Given the description of an element on the screen output the (x, y) to click on. 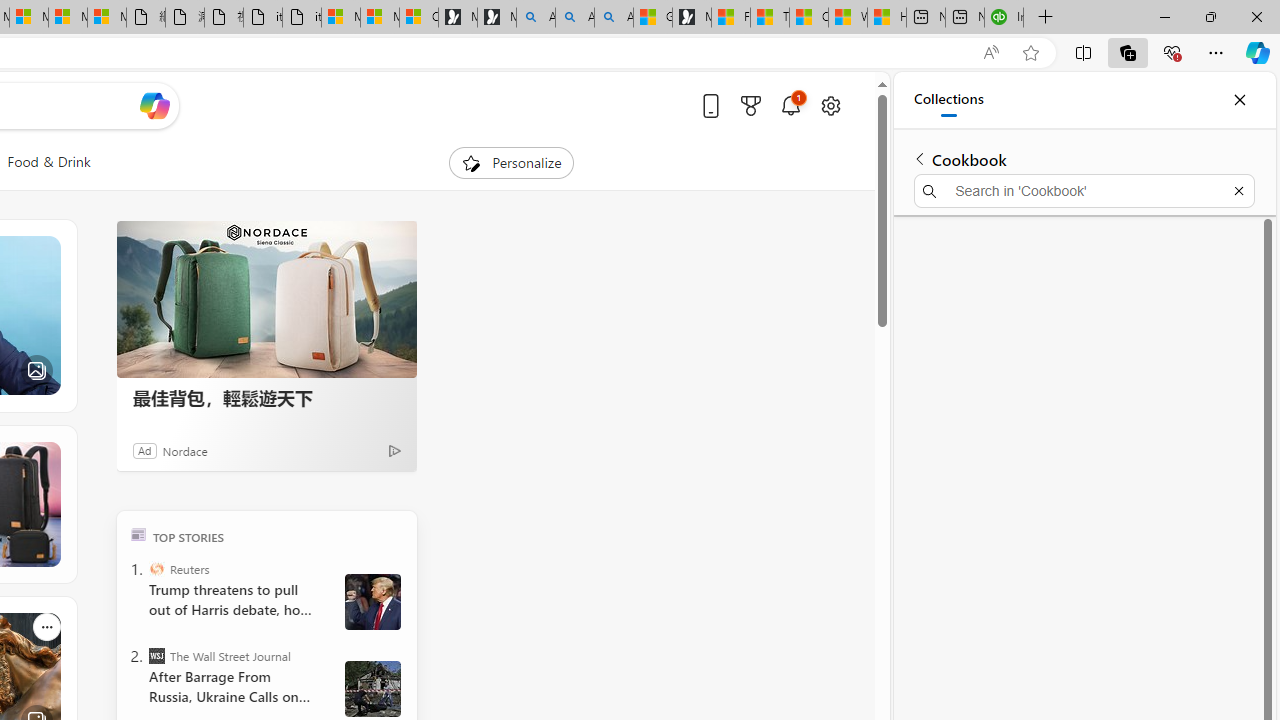
Browser essentials (1171, 52)
Food & Drink (48, 162)
Search in 'Cookbook' (1084, 190)
Reuters (156, 568)
Minimize (1164, 16)
Food and Drink - MSN (730, 17)
Back to list of collections (920, 158)
Open settings (830, 105)
TOP (138, 534)
See more (46, 626)
Collections (948, 99)
Collections (1128, 52)
